Given the description of an element on the screen output the (x, y) to click on. 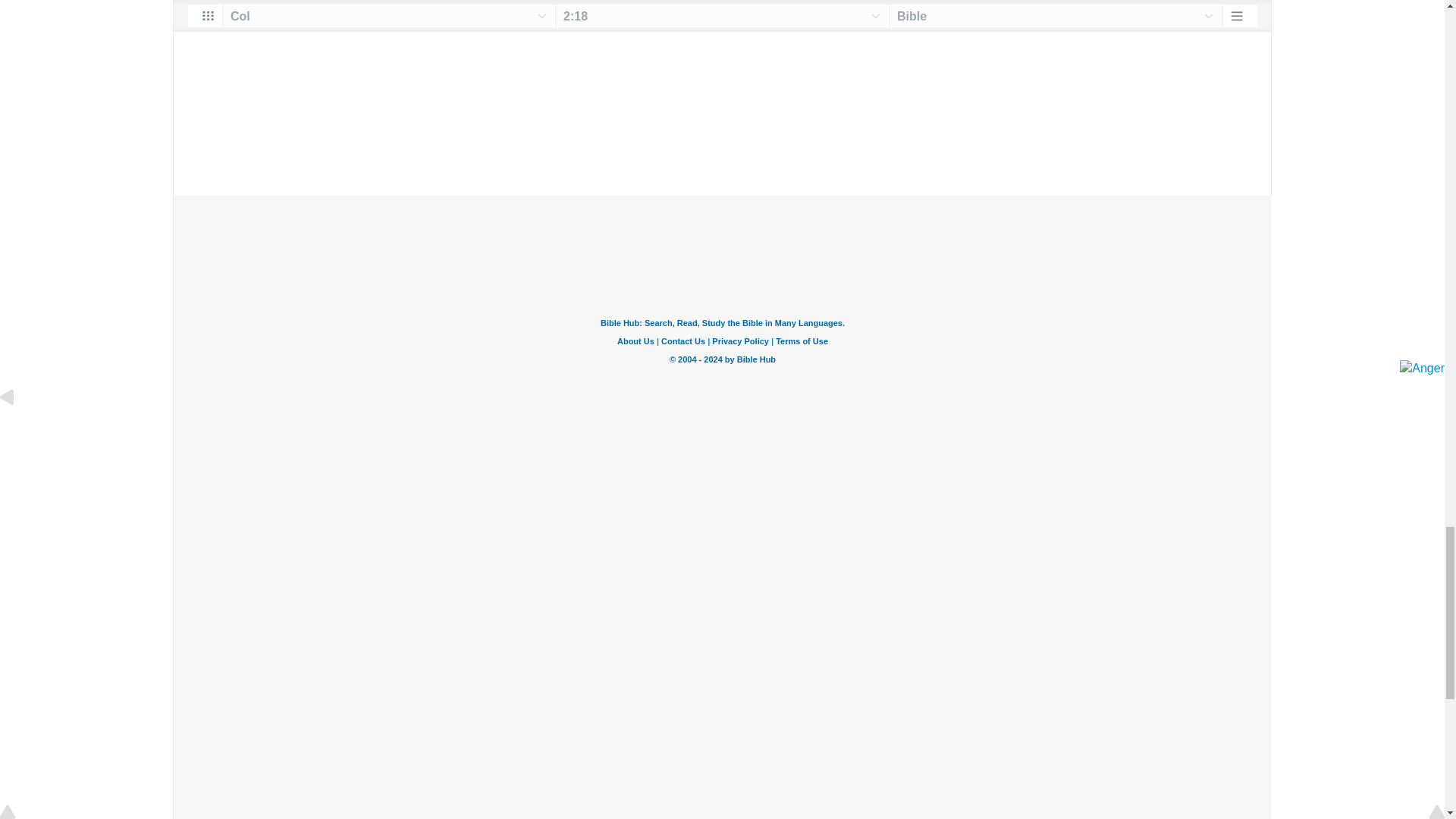
Advertisement (721, 103)
